Given the description of an element on the screen output the (x, y) to click on. 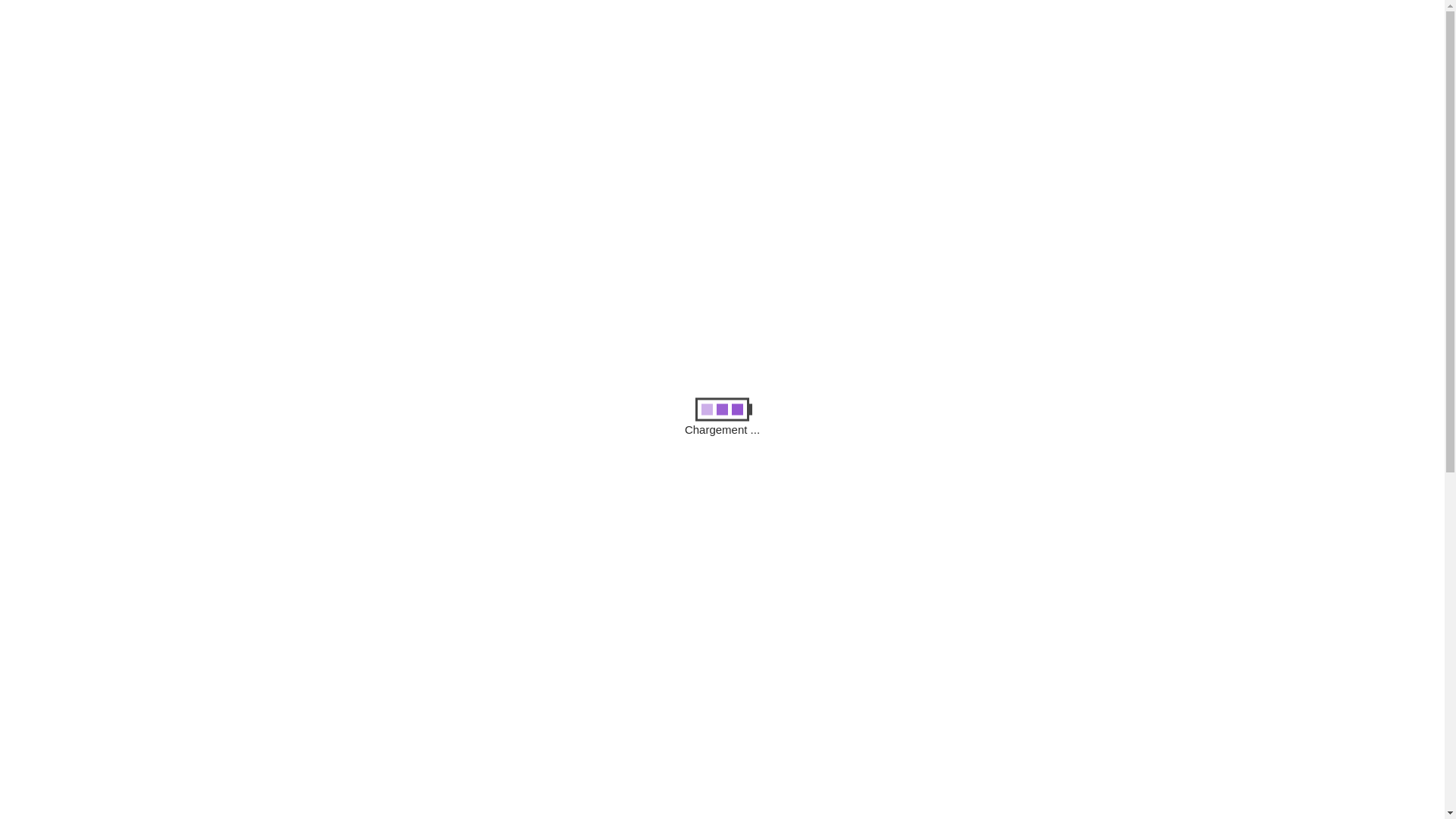
SERVICES INFORMATIQUES Element type: text (371, 101)
Cliquez ICI Element type: text (1075, 45)
CONTACT Element type: text (707, 101)
begsis Element type: text (319, 282)
Tips Element type: text (996, 655)
visite virtuelle 360 Element type: text (351, 806)
